Given the description of an element on the screen output the (x, y) to click on. 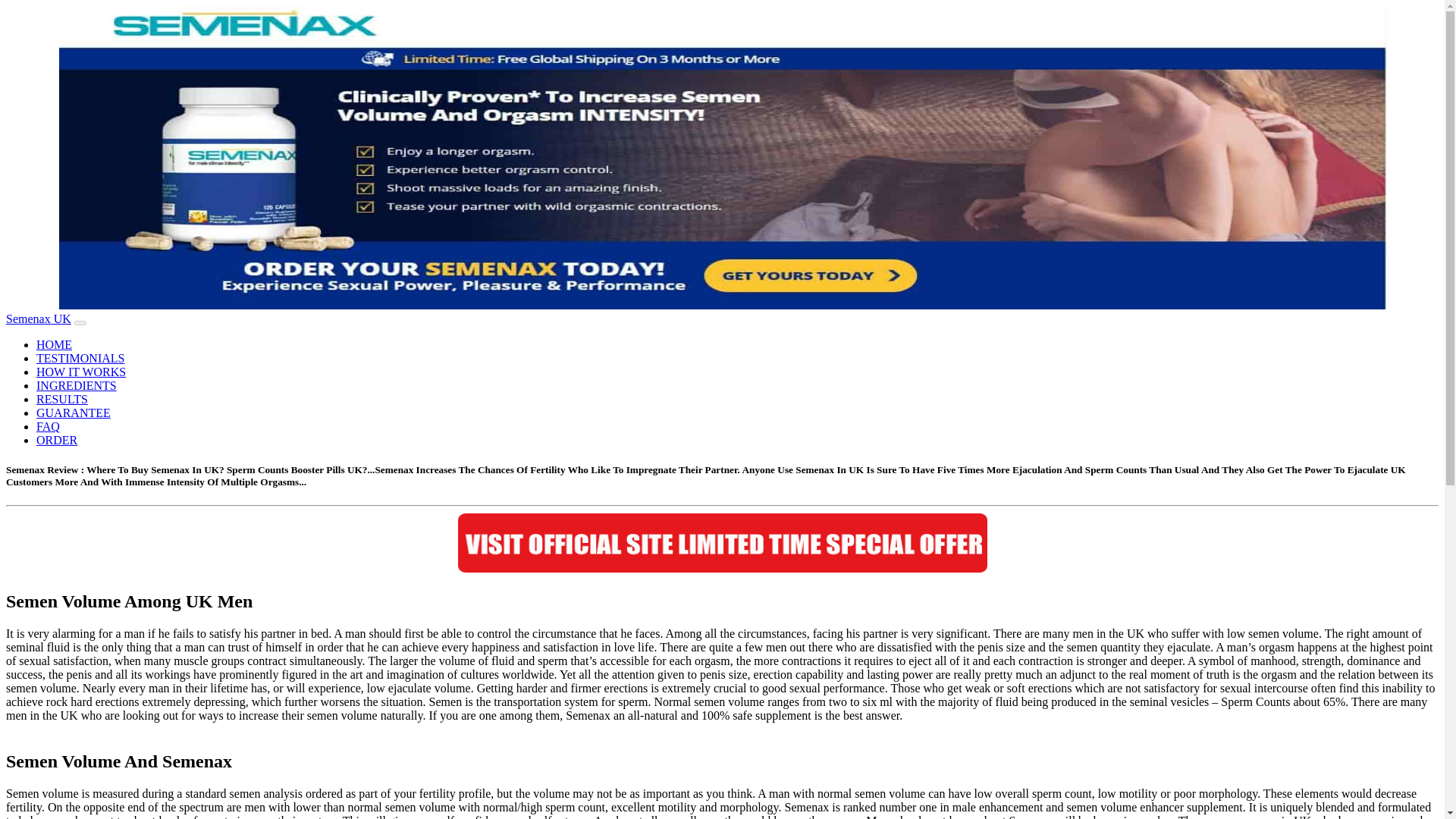
ORDER (56, 440)
Semenax UK (722, 542)
GUARANTEE (73, 412)
FAQ (47, 426)
TESTIMONIALS (79, 358)
HOW IT WORKS (80, 371)
INGREDIENTS (76, 385)
RESULTS (61, 399)
Semenax UK (38, 318)
HOME (53, 344)
